Given the description of an element on the screen output the (x, y) to click on. 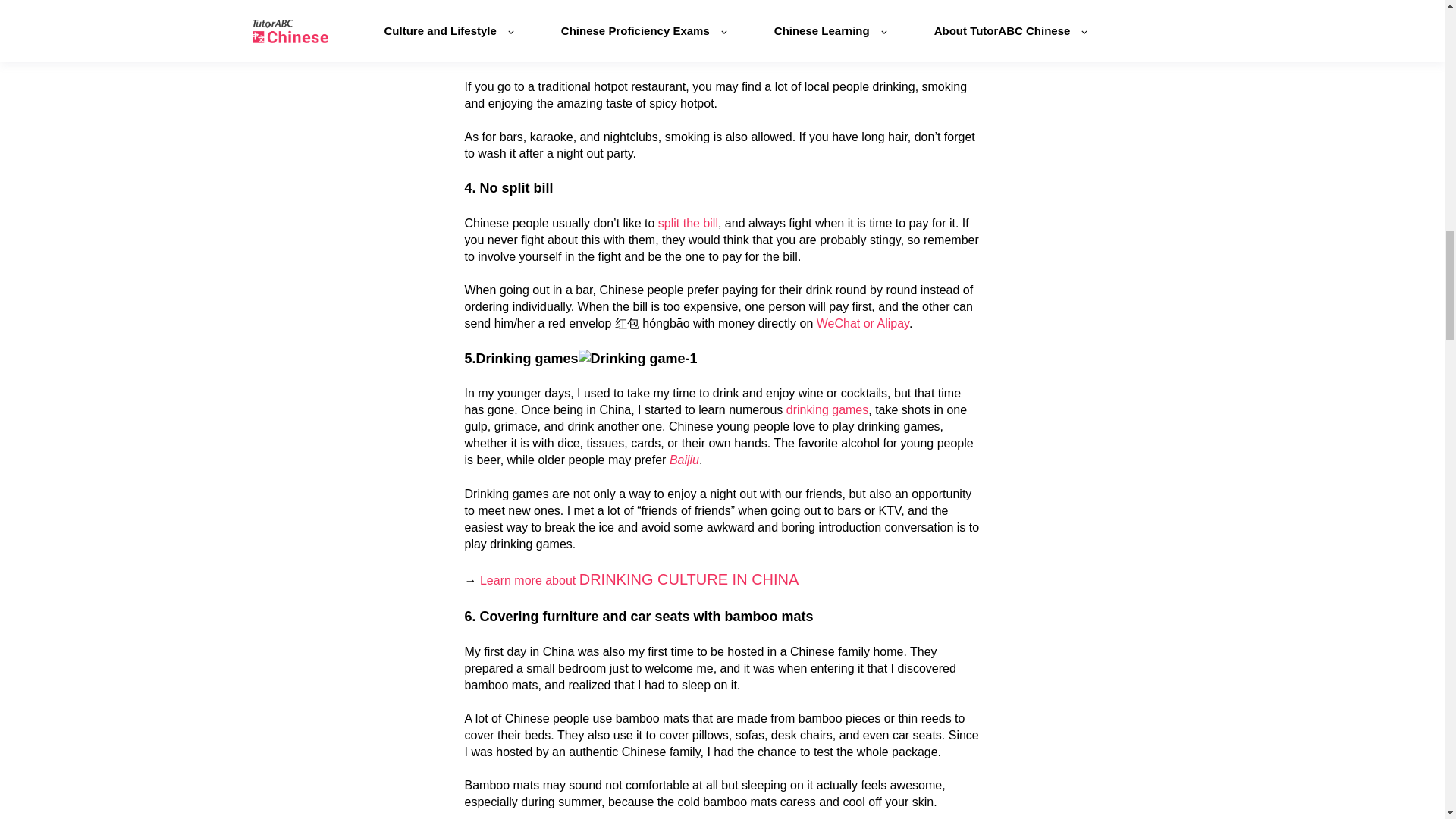
Learn mo (505, 580)
DRINKING CULTURE IN CHINA (689, 579)
drinking games (827, 409)
split the bill (687, 223)
re about  (555, 580)
WeChat or Alipay (862, 323)
Baijiu (683, 459)
